Given the description of an element on the screen output the (x, y) to click on. 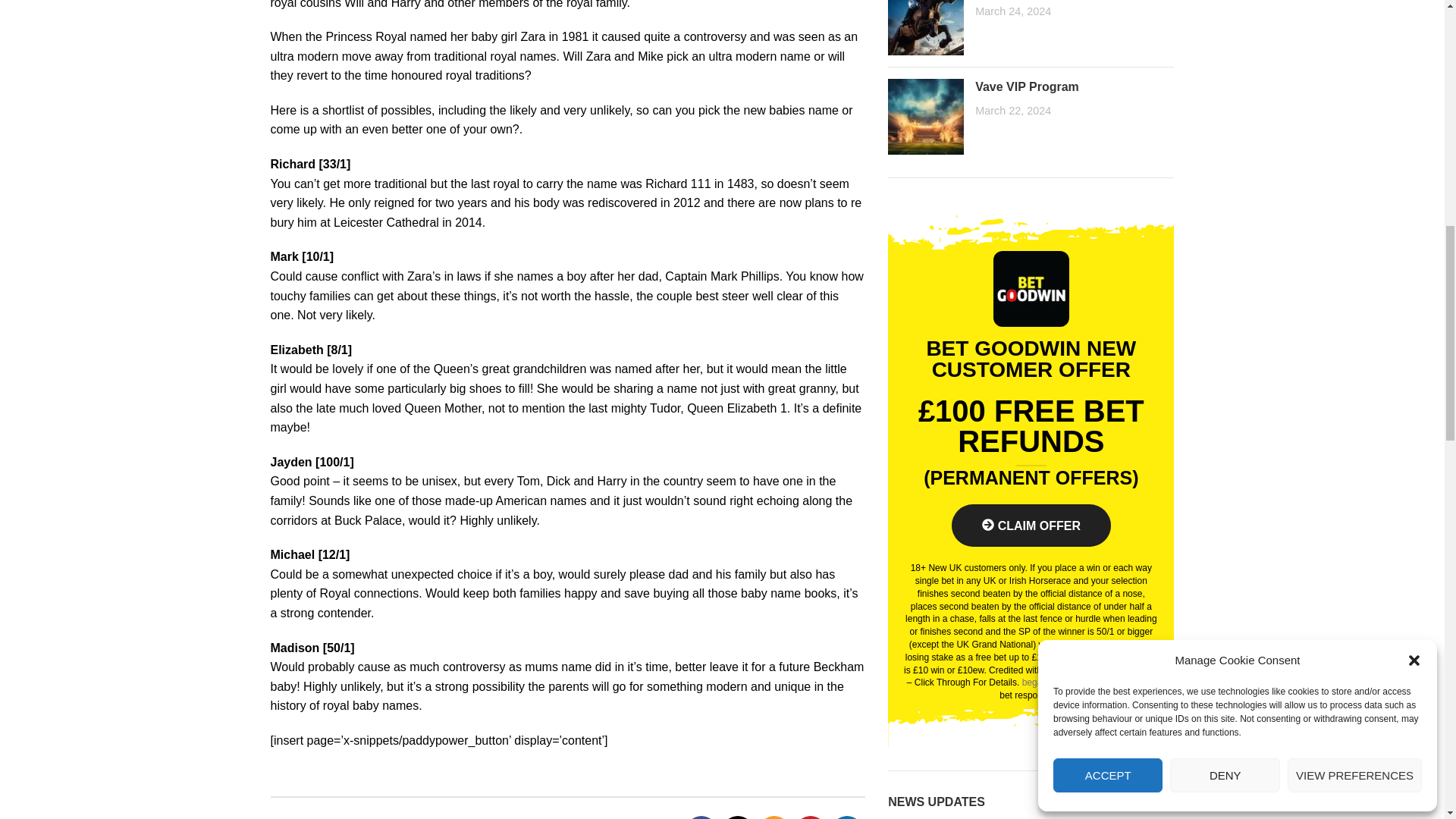
Permalink to Vave VIP Program (1026, 86)
